Given the description of an element on the screen output the (x, y) to click on. 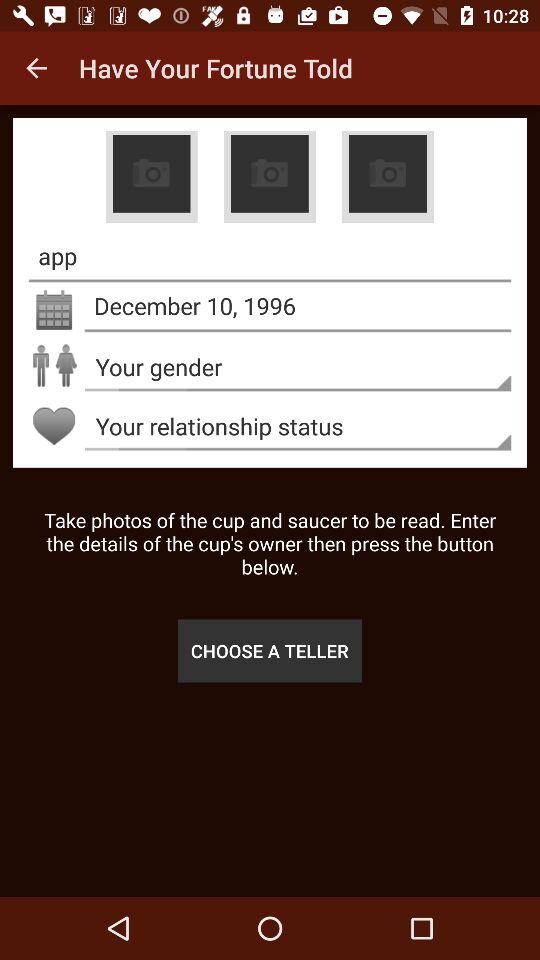
add a photo (151, 177)
